Given the description of an element on the screen output the (x, y) to click on. 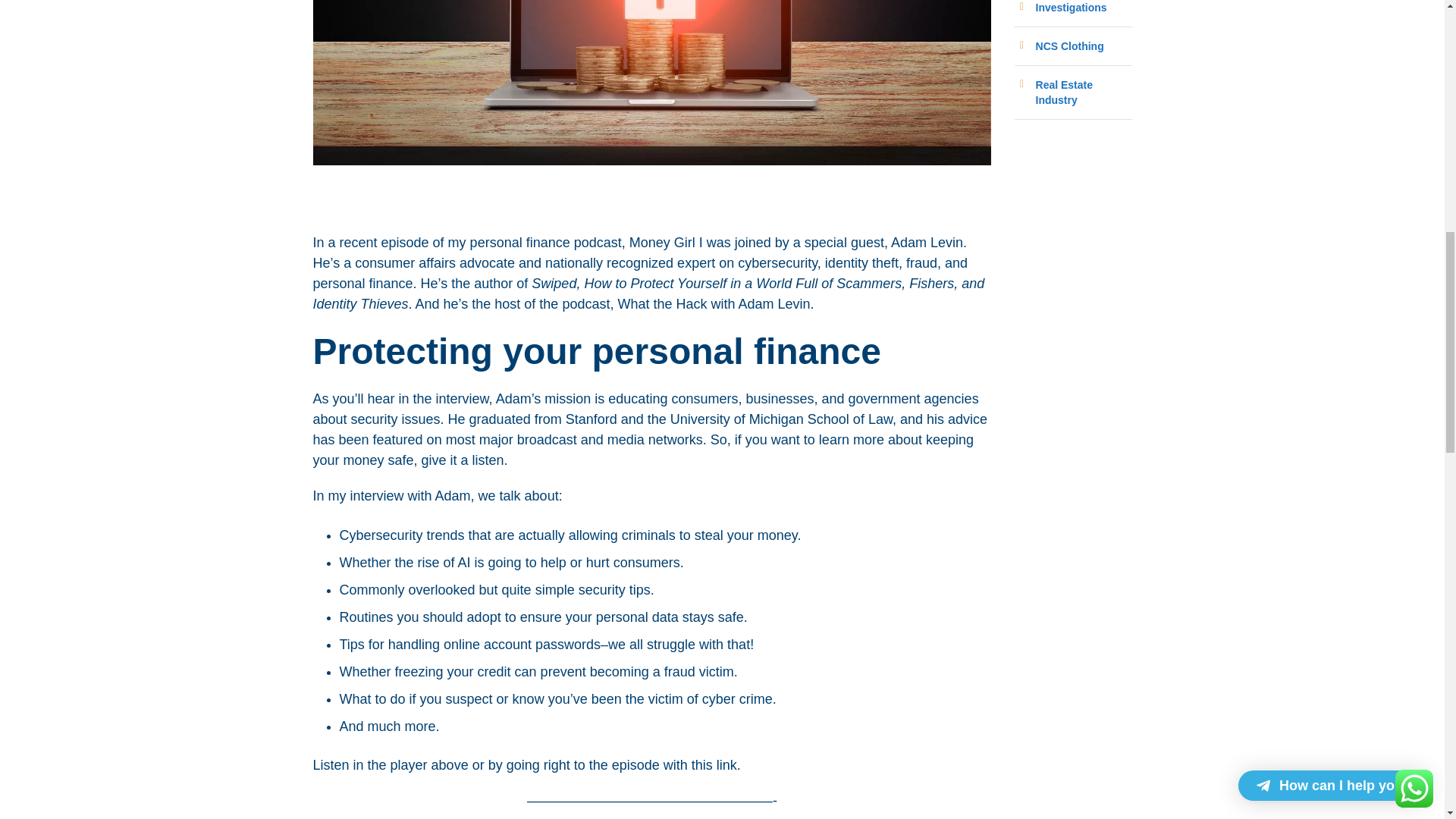
money-cybersecurity-jpg.webp.webp (652, 82)
